Given the description of an element on the screen output the (x, y) to click on. 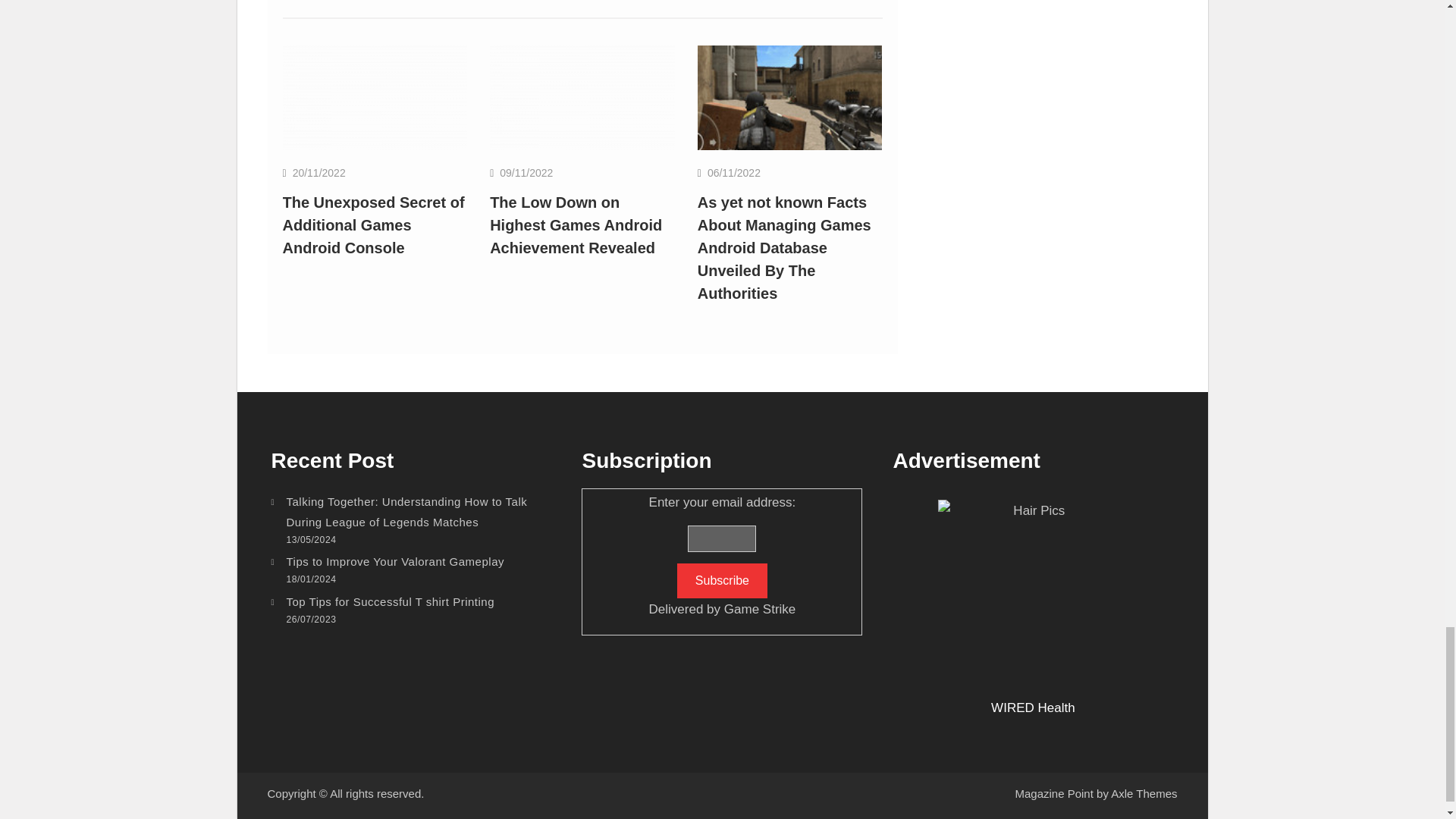
The Unexposed Secret of Additional Games Android Console (373, 225)
Subscribe (722, 580)
The Low Down on Highest Games Android Achievement Revealed (582, 97)
The Low Down on Highest Games Android Achievement Revealed (575, 225)
The Unexposed Secret of Additional Games Android Console (374, 97)
